Given the description of an element on the screen output the (x, y) to click on. 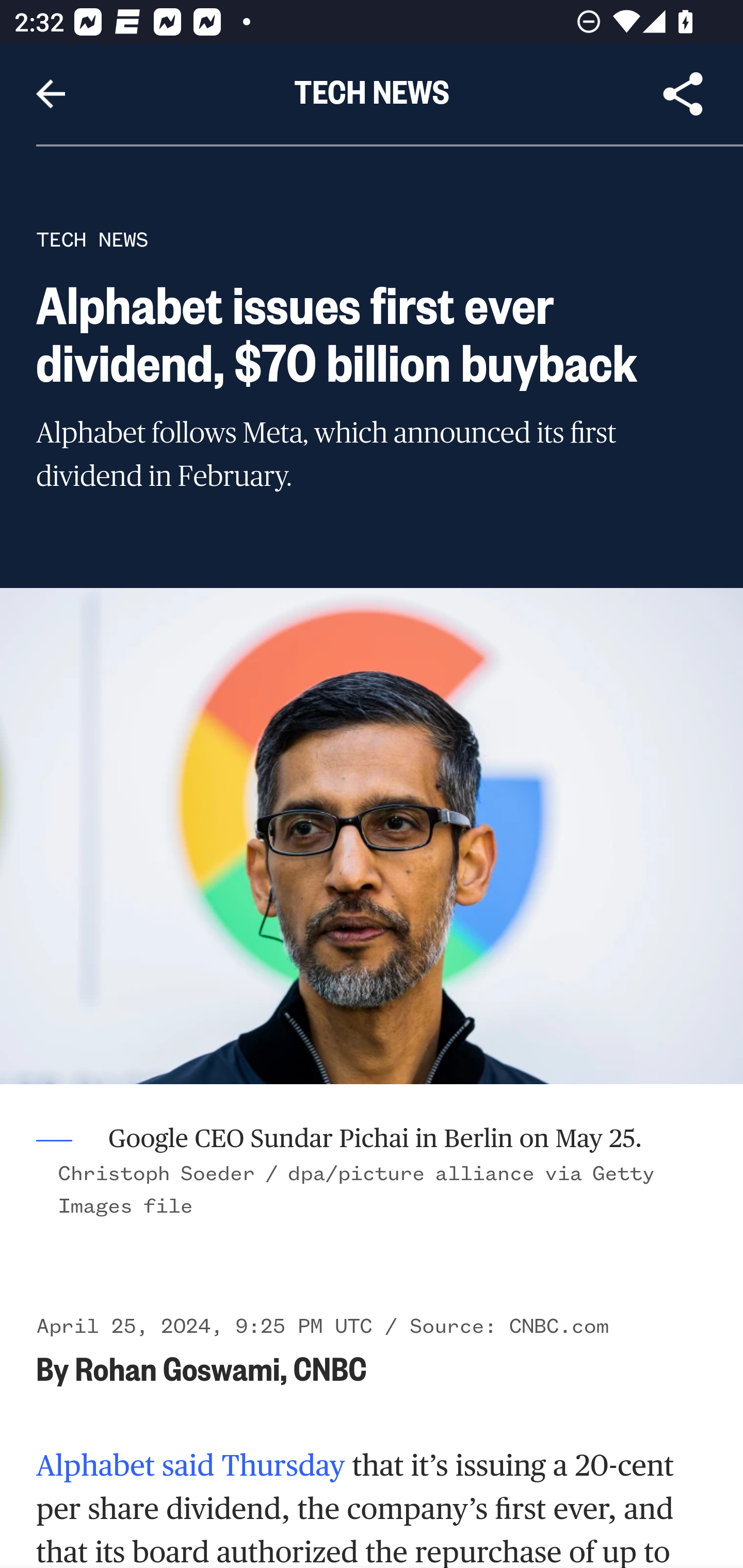
Navigate up (50, 93)
Share Article, button (683, 94)
